Given the description of an element on the screen output the (x, y) to click on. 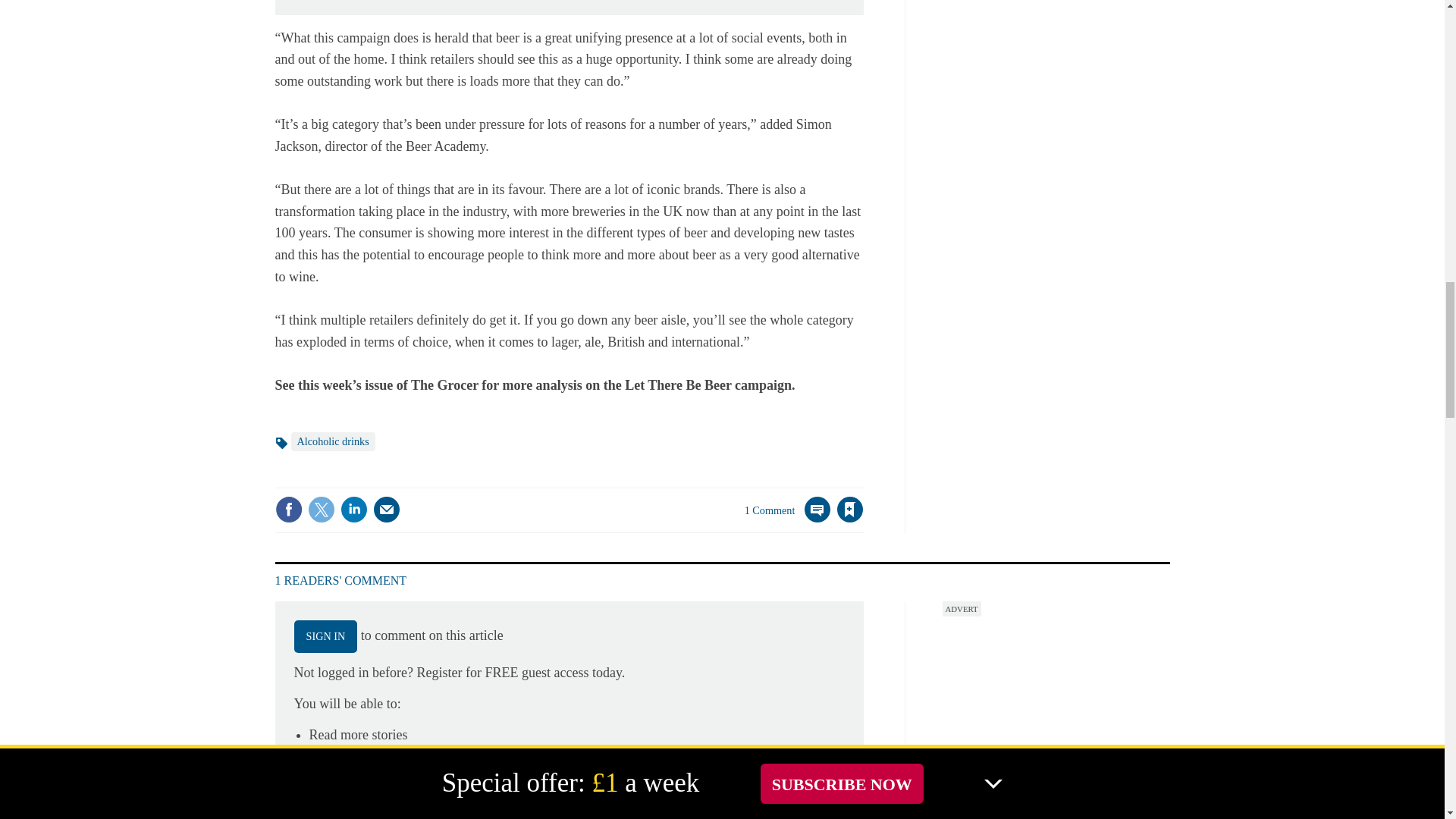
Share this on Facebook (288, 509)
Share this on Twitter (320, 509)
1 Comment (787, 518)
Share this on Linked in (352, 509)
Email this article (386, 509)
